Given the description of an element on the screen output the (x, y) to click on. 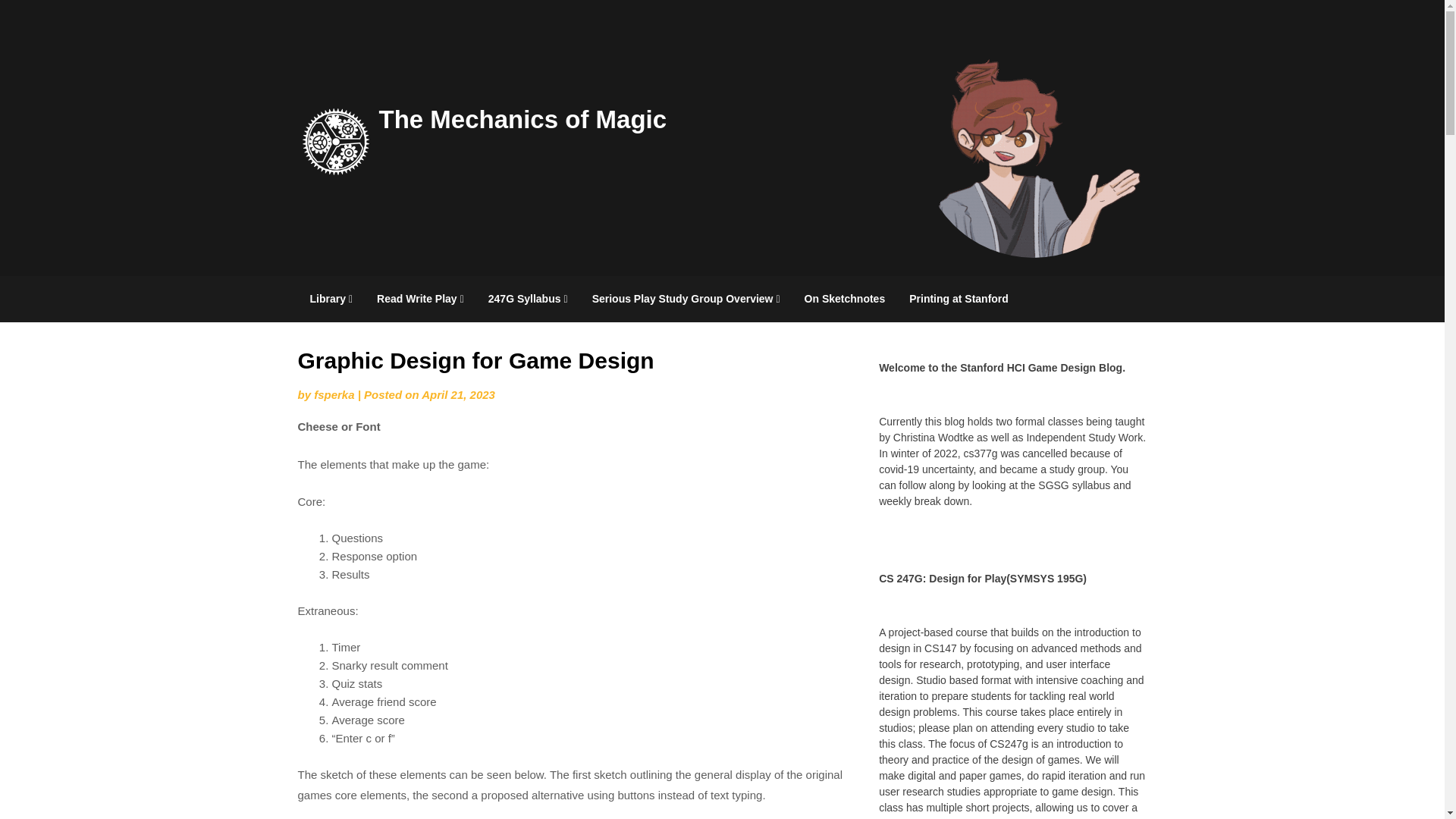
Serious Play Study Group Overview (685, 299)
Read Write Play (420, 299)
247G Syllabus (527, 299)
Library (331, 299)
The Mechanics of Magic (522, 118)
